Given the description of an element on the screen output the (x, y) to click on. 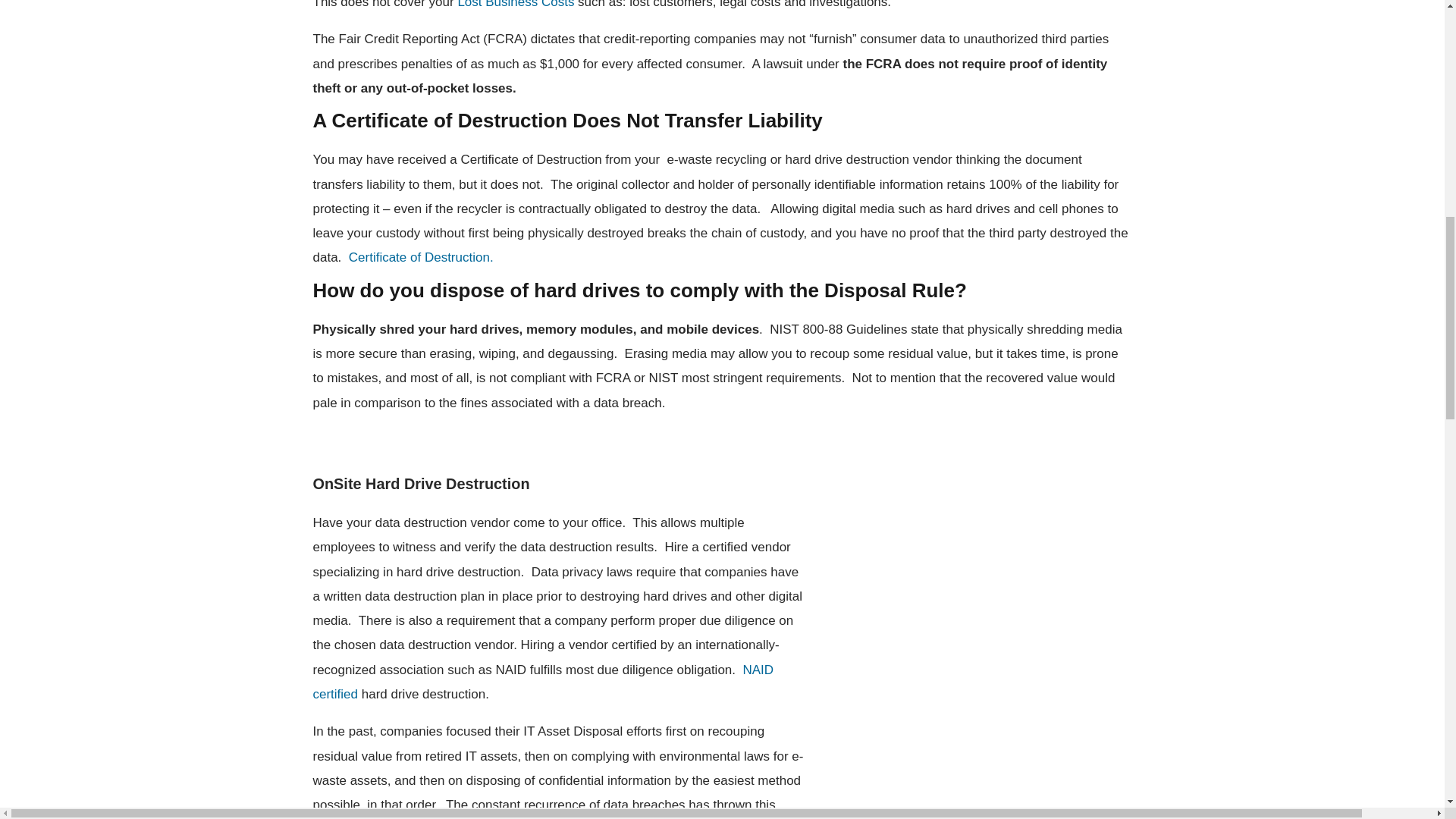
Shredded Hard Drive (967, 637)
Lost Business Costs (515, 4)
Certificate of Destruction. (421, 257)
NAID certified (543, 681)
